Given the description of an element on the screen output the (x, y) to click on. 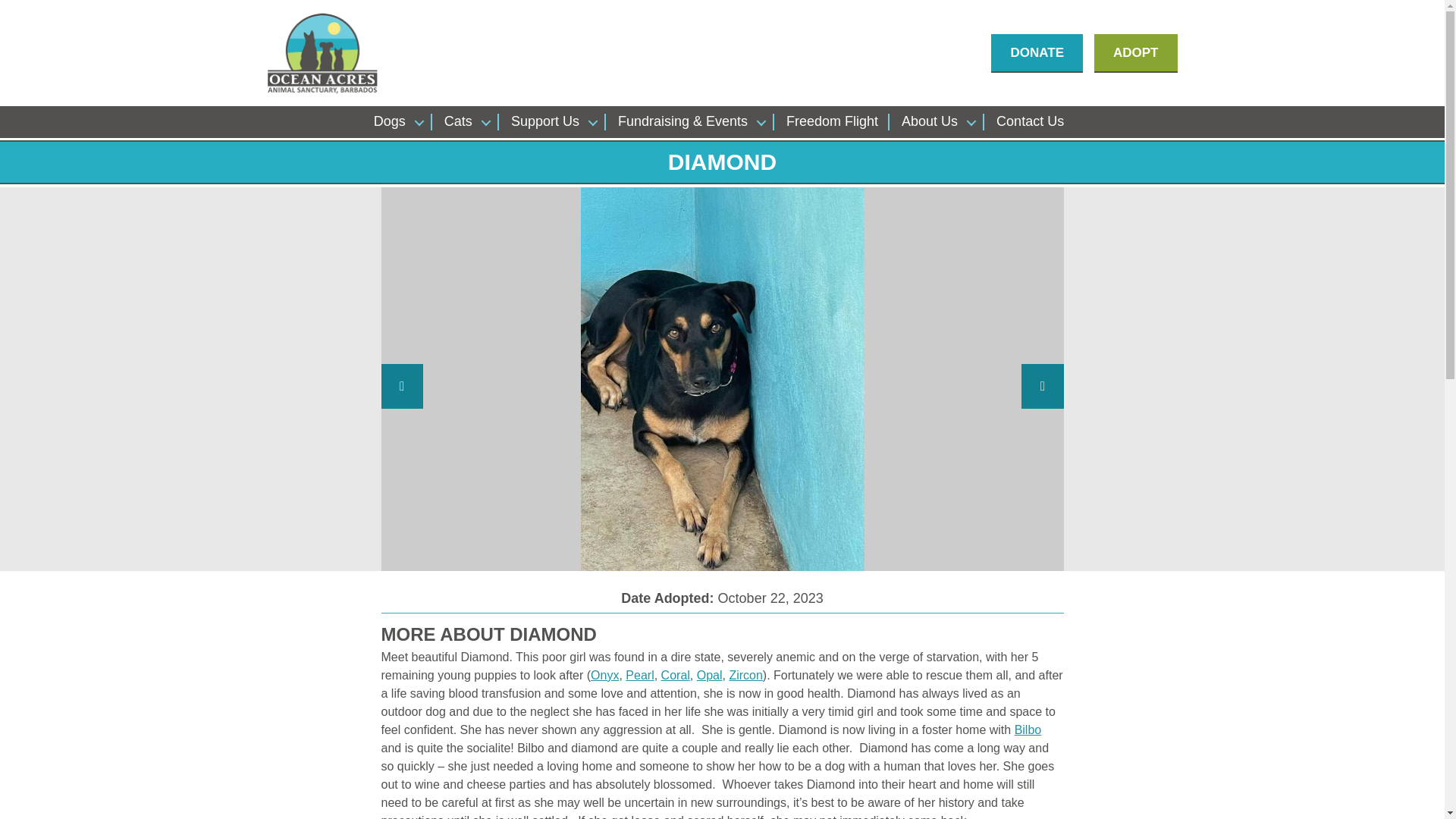
DONATE (1037, 52)
Dogs (397, 121)
Support Us (552, 121)
ADOPT (1135, 52)
Freedom Flight (831, 121)
Cats (465, 121)
About Us (936, 121)
Contact Us (1029, 121)
